Given the description of an element on the screen output the (x, y) to click on. 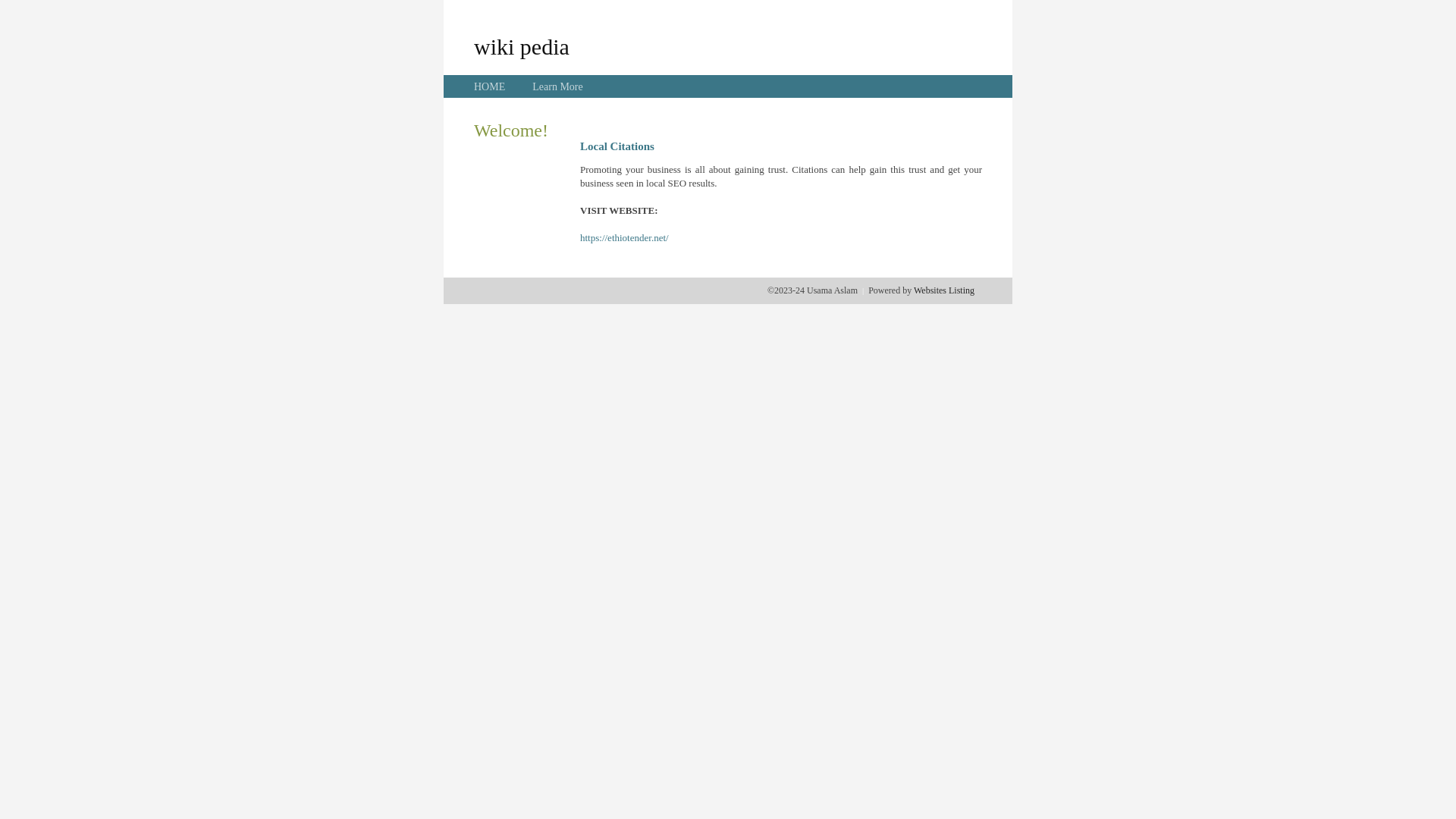
https://ethiotender.net/ Element type: text (624, 237)
Learn More Element type: text (557, 86)
Websites Listing Element type: text (943, 290)
HOME Element type: text (489, 86)
wiki pedia Element type: text (521, 46)
